Given the description of an element on the screen output the (x, y) to click on. 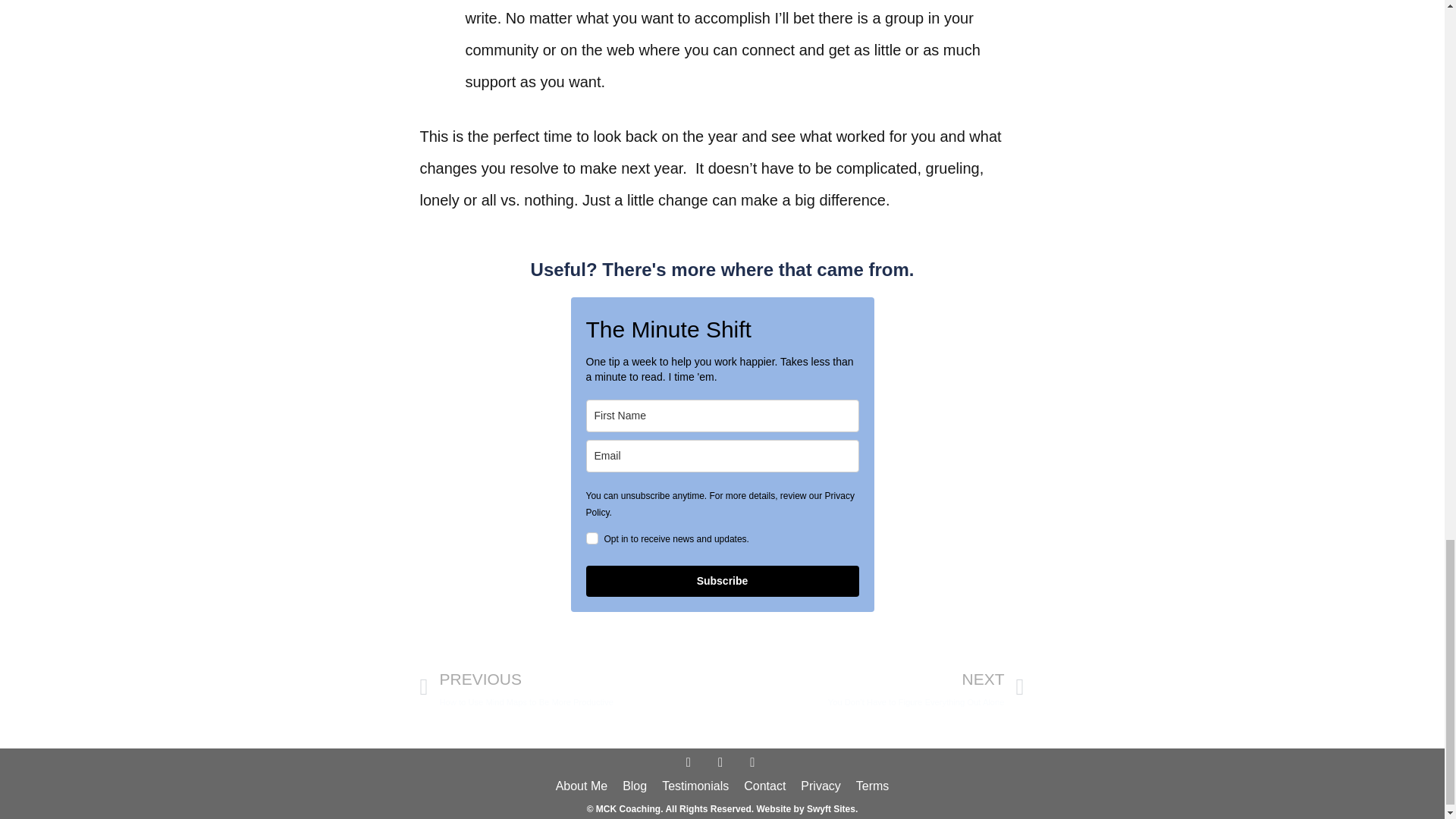
About Me (581, 786)
Terms (872, 786)
Privacy (820, 786)
Subscribe (722, 581)
Contact (571, 687)
Testimonials (764, 786)
Blog (694, 786)
